Given the description of an element on the screen output the (x, y) to click on. 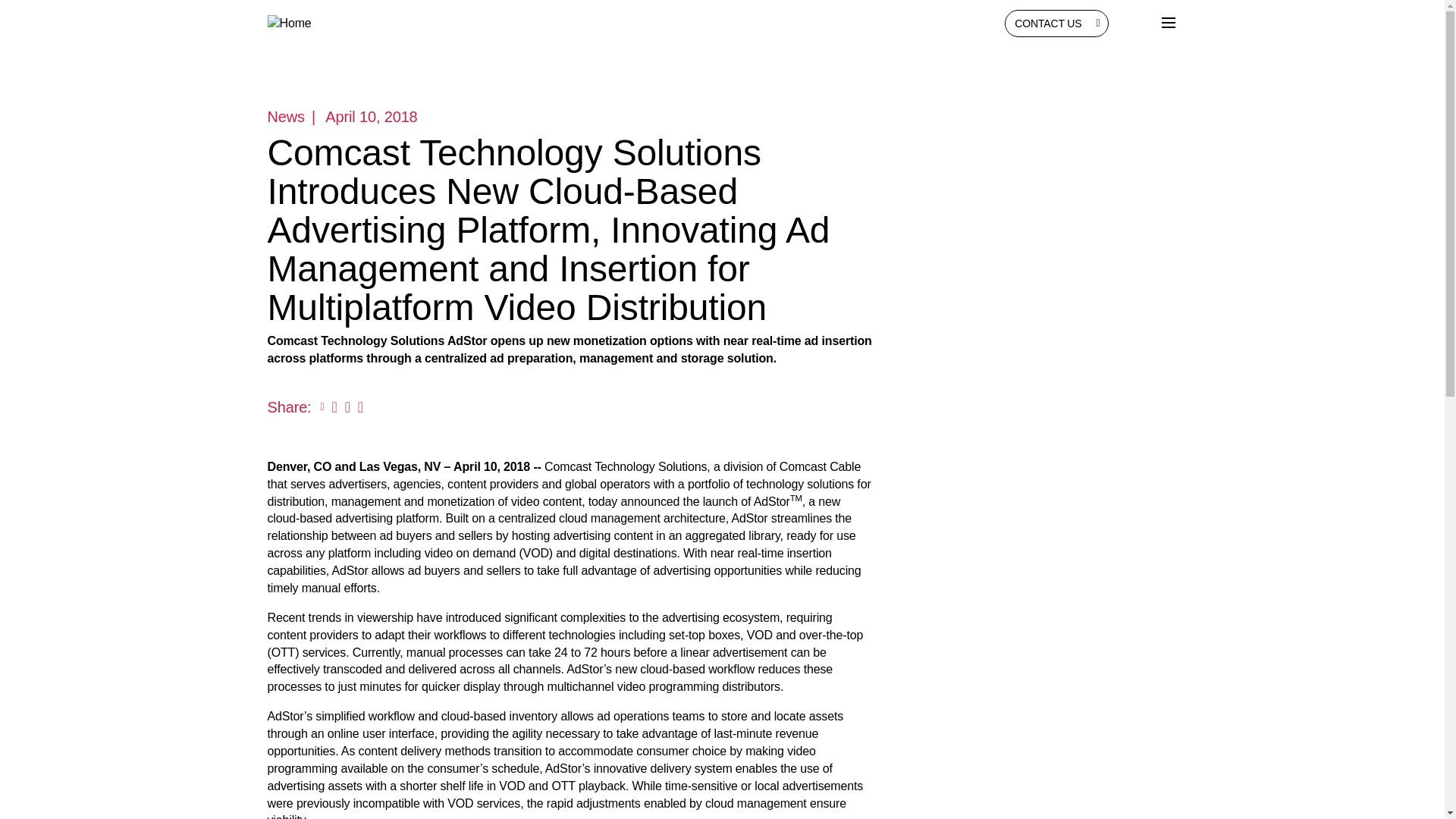
Home (329, 23)
Menu (1167, 22)
CONTACT US (1056, 22)
